Given the description of an element on the screen output the (x, y) to click on. 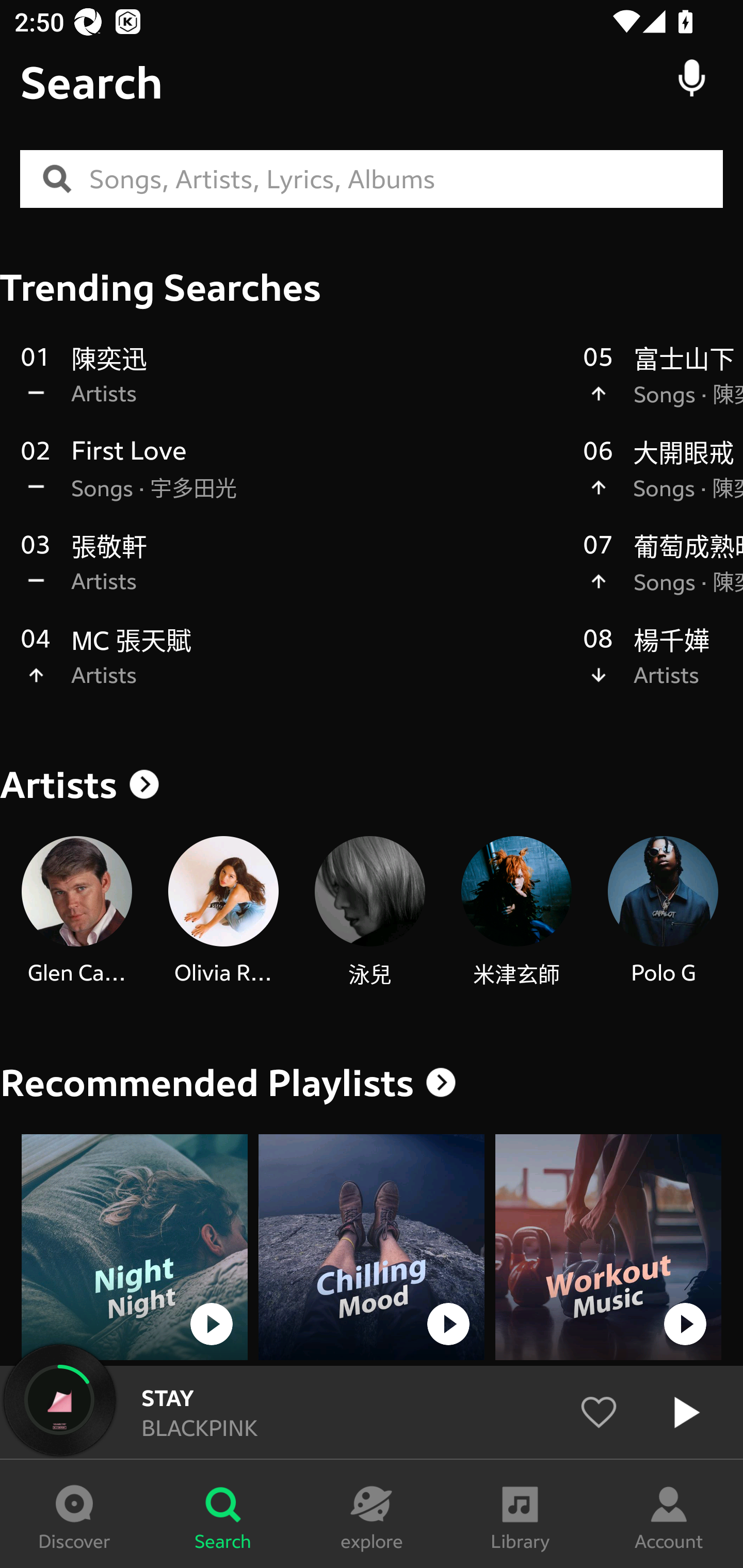
Songs, Artists, Lyrics, Albums (405, 179)
01 陳奕迅 Artists (291, 385)
05 富士山下 Songs · 陳奕迅 (663, 385)
02 First Love Songs · 宇多田光 (291, 479)
06 大開眼戒 Songs · 陳奕迅 (663, 479)
03 張敬軒 Artists (291, 573)
07 葡萄成熟時 Songs · 陳奕迅 (663, 573)
04 MC 張天賦 Artists (291, 667)
08 楊千嬅 Artists (663, 667)
Artists (371, 784)
Glen Campbell (76, 911)
Olivia Rodrigo (222, 911)
泳兒 (369, 912)
米津玄師 (516, 912)
Polo G (662, 911)
Recommended Playlists (206, 1082)
STAY BLACKPINK (371, 1412)
Discover (74, 1513)
explore (371, 1513)
Library (519, 1513)
Account (668, 1513)
